Given the description of an element on the screen output the (x, y) to click on. 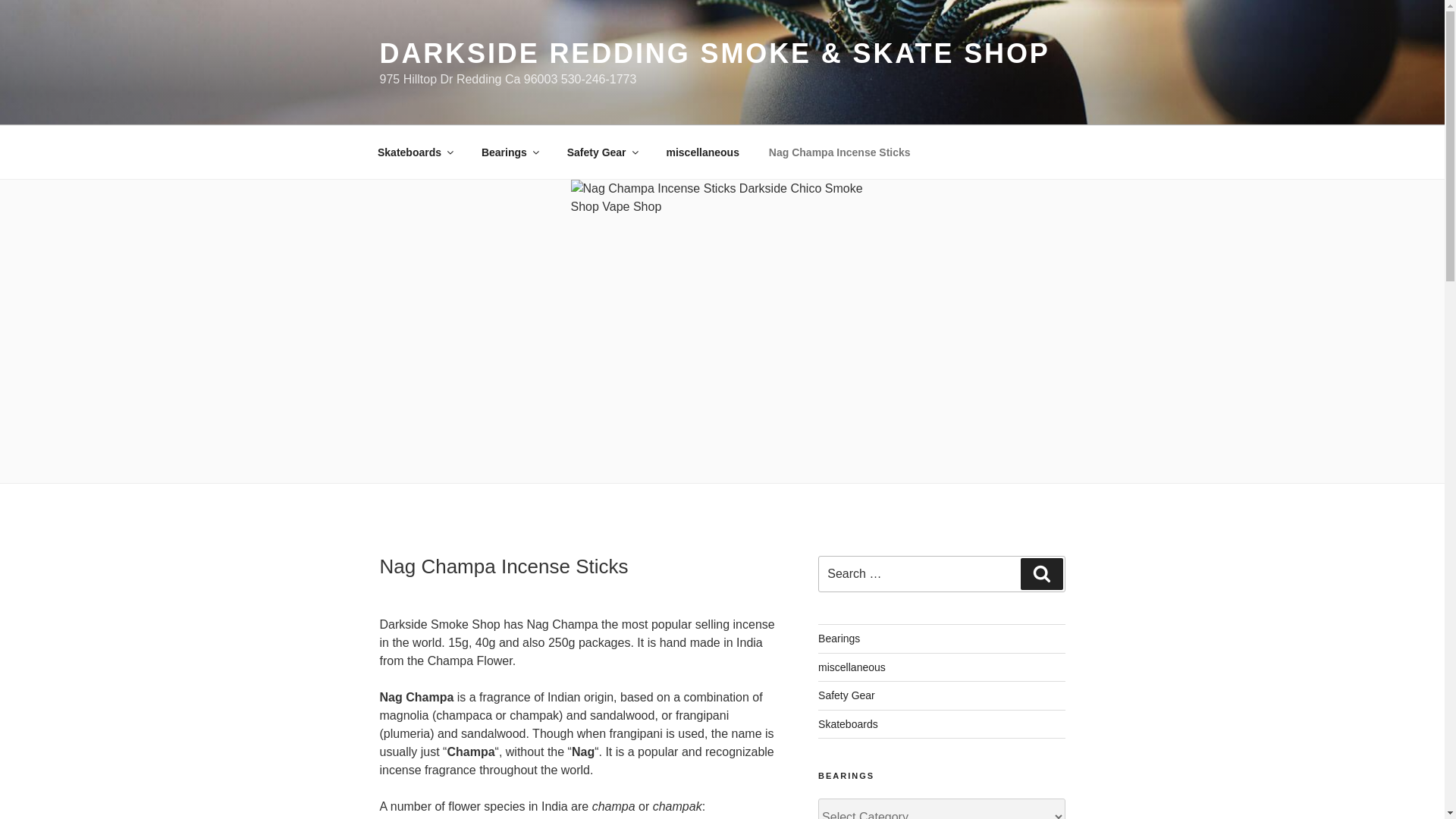
Safety Gear (601, 151)
Bearings (508, 151)
Nag Champa Incense Sticks (839, 151)
Skateboards (414, 151)
miscellaneous (702, 151)
